Given the description of an element on the screen output the (x, y) to click on. 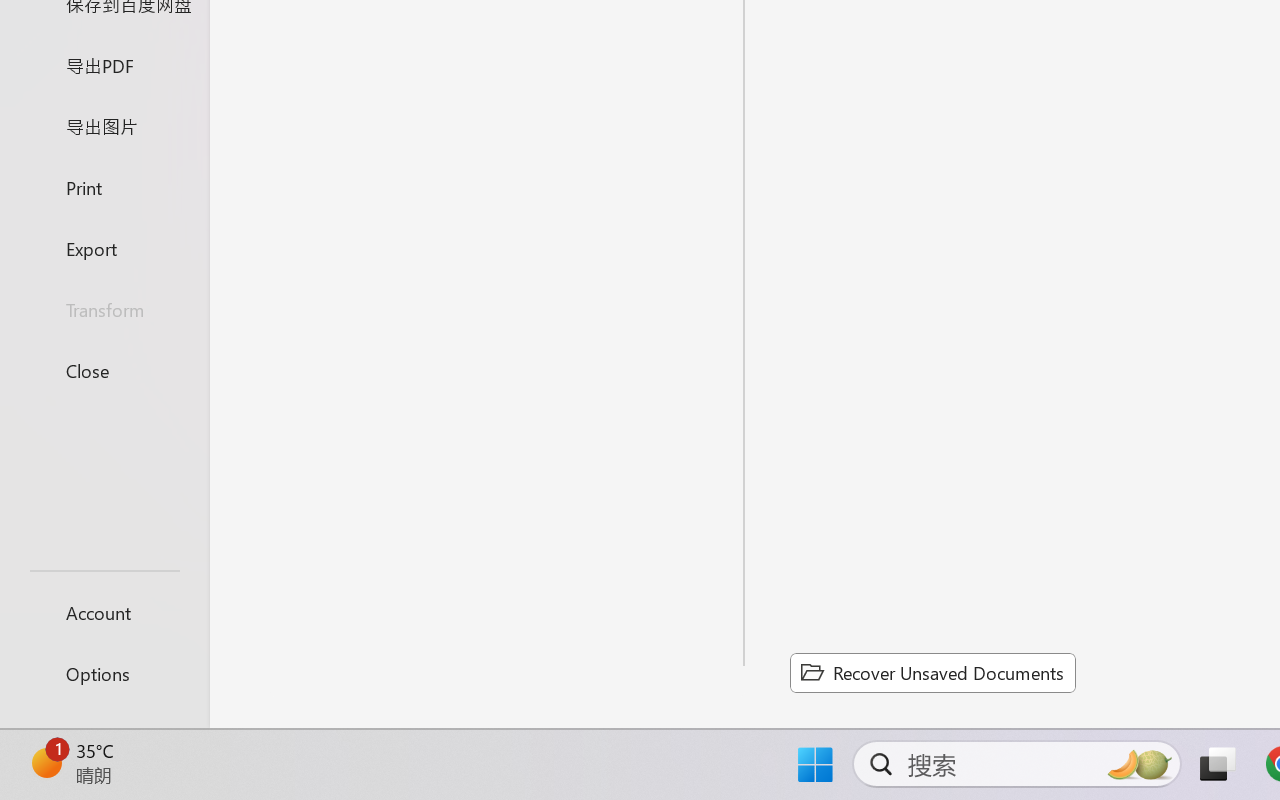
Account (104, 612)
Recover Unsaved Documents (932, 672)
Transform (104, 309)
Options (104, 673)
Print (104, 186)
Export (104, 248)
